Given the description of an element on the screen output the (x, y) to click on. 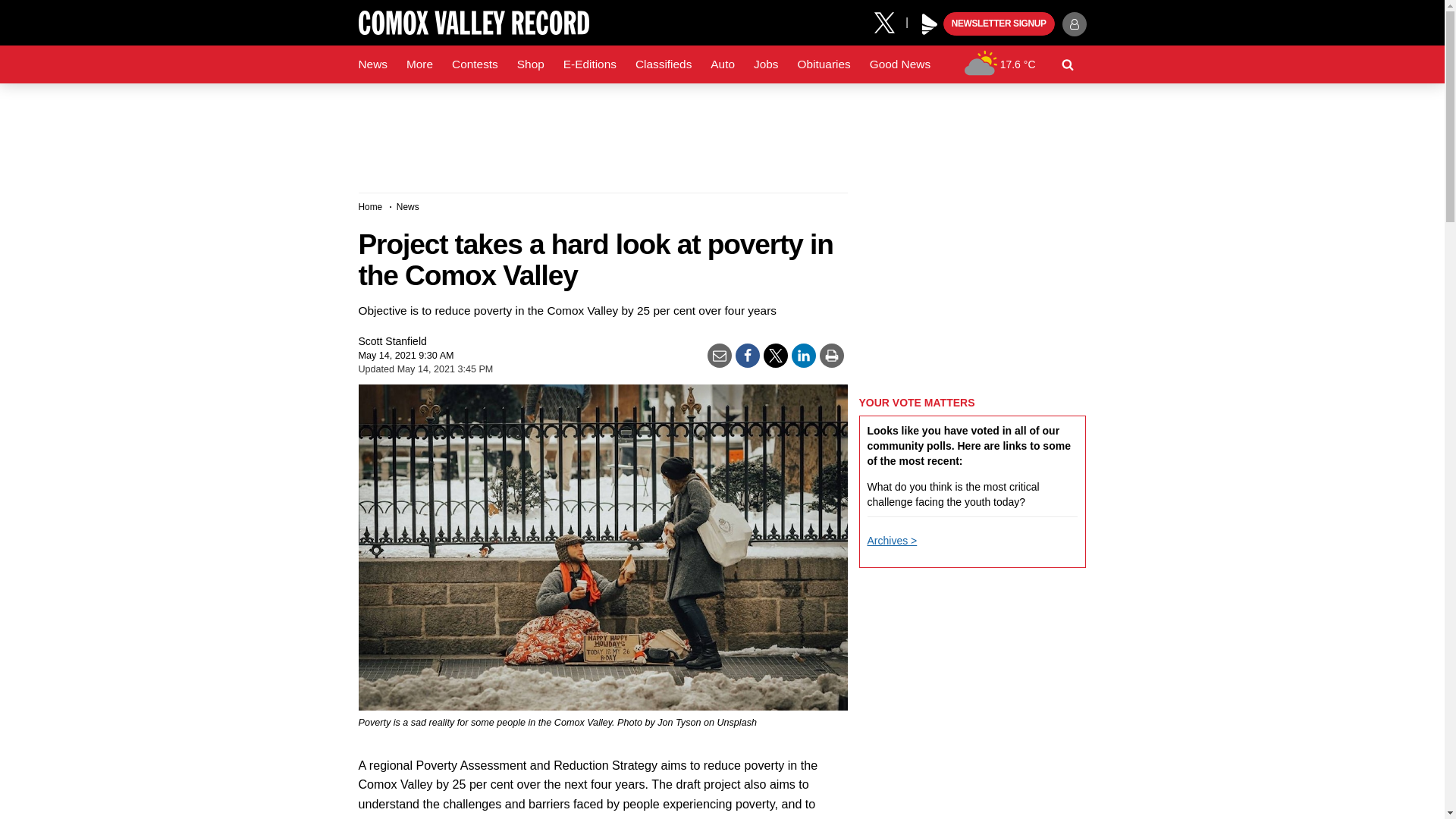
NEWSLETTER SIGNUP (998, 24)
News (372, 64)
Play (929, 24)
Black Press Media (929, 24)
X (889, 21)
